Given the description of an element on the screen output the (x, y) to click on. 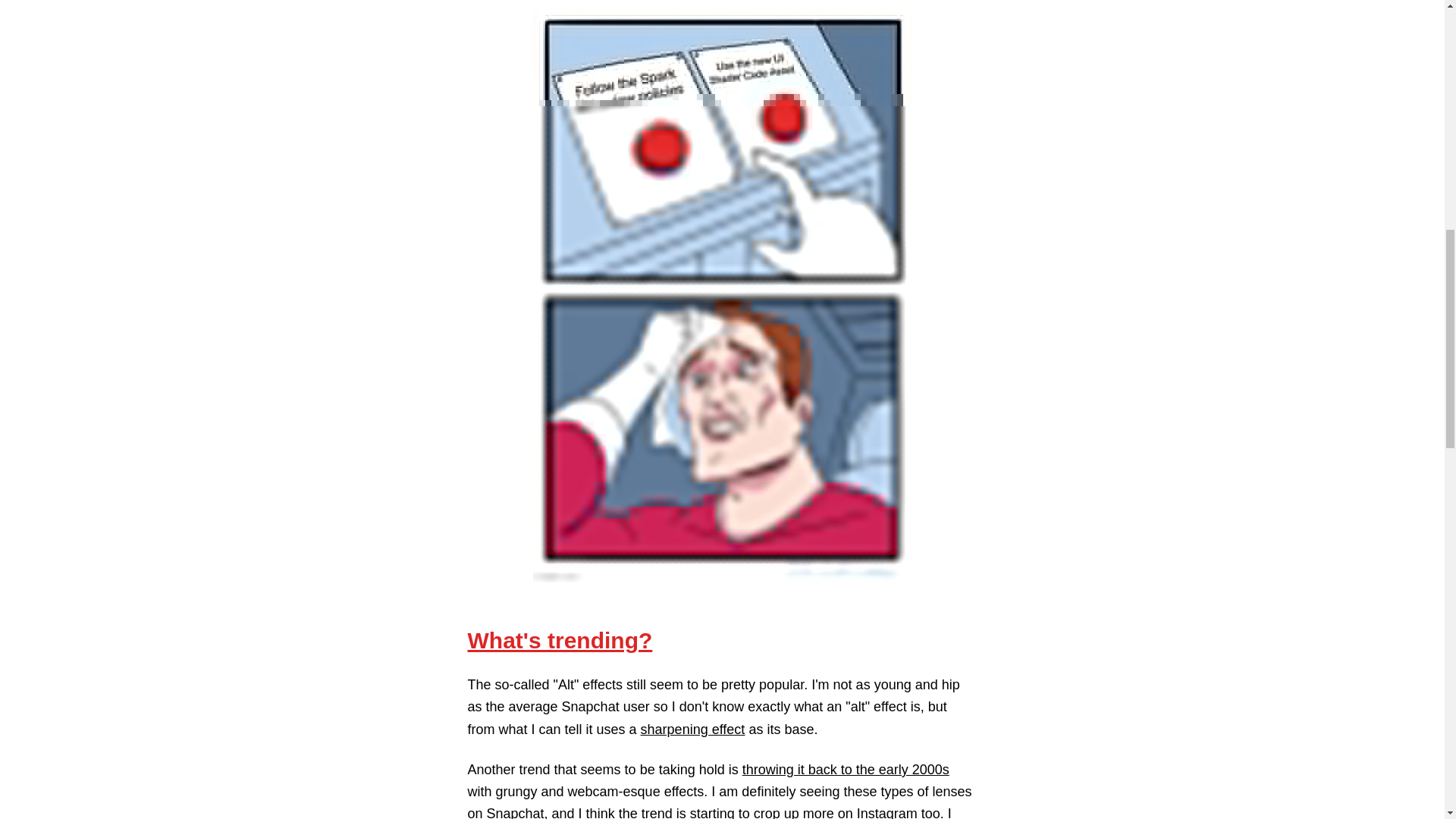
throwing it back to the early 2000s (845, 769)
sharpening effect (692, 729)
What's trending? (559, 640)
